Given the description of an element on the screen output the (x, y) to click on. 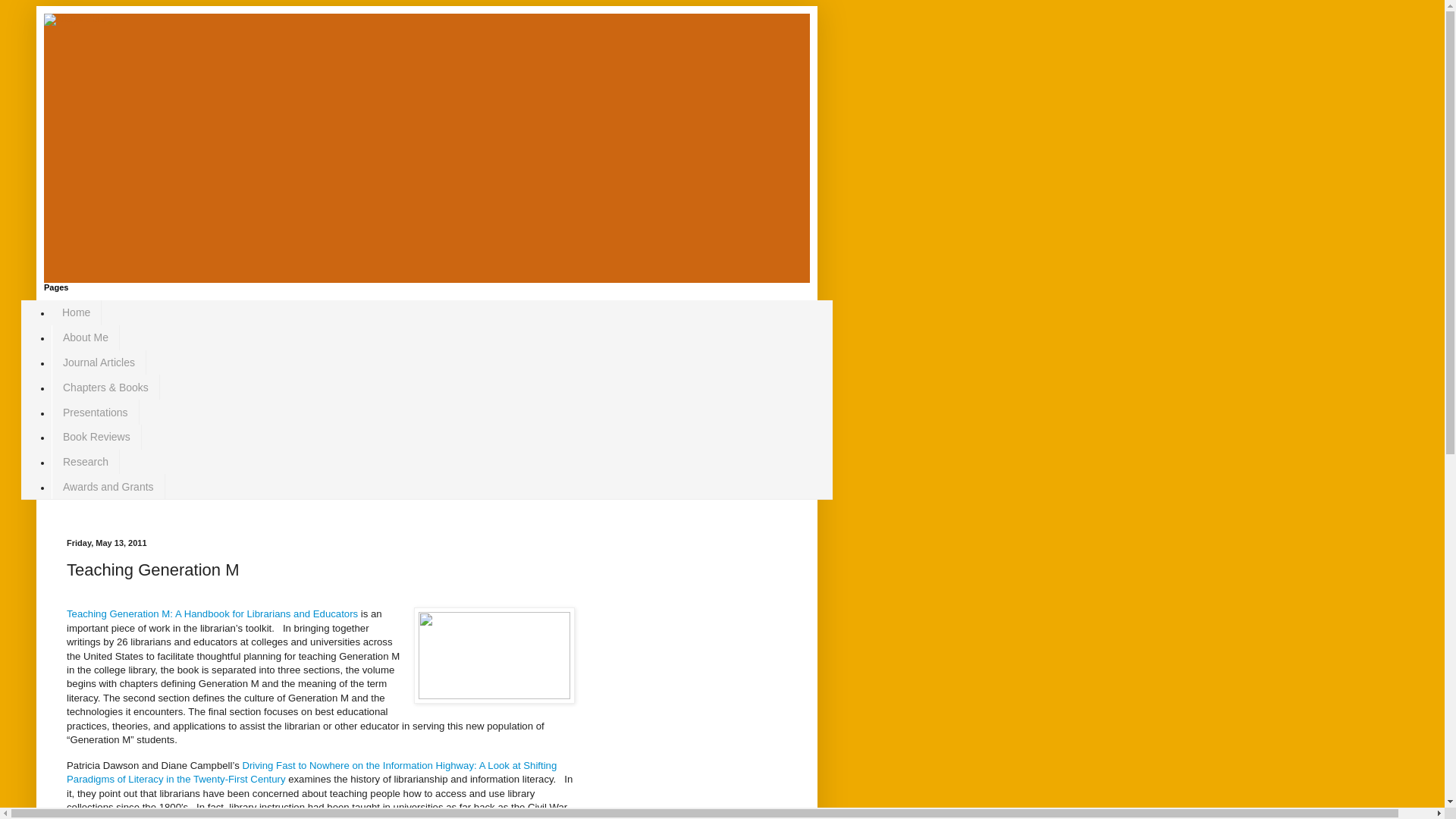
Book Reviews (95, 437)
Awards and Grants (107, 486)
Research (84, 462)
Home (75, 312)
 Lamar Johnson (184, 817)
Presentations (94, 412)
About Me (84, 337)
Journal Articles (98, 362)
